Given the description of an element on the screen output the (x, y) to click on. 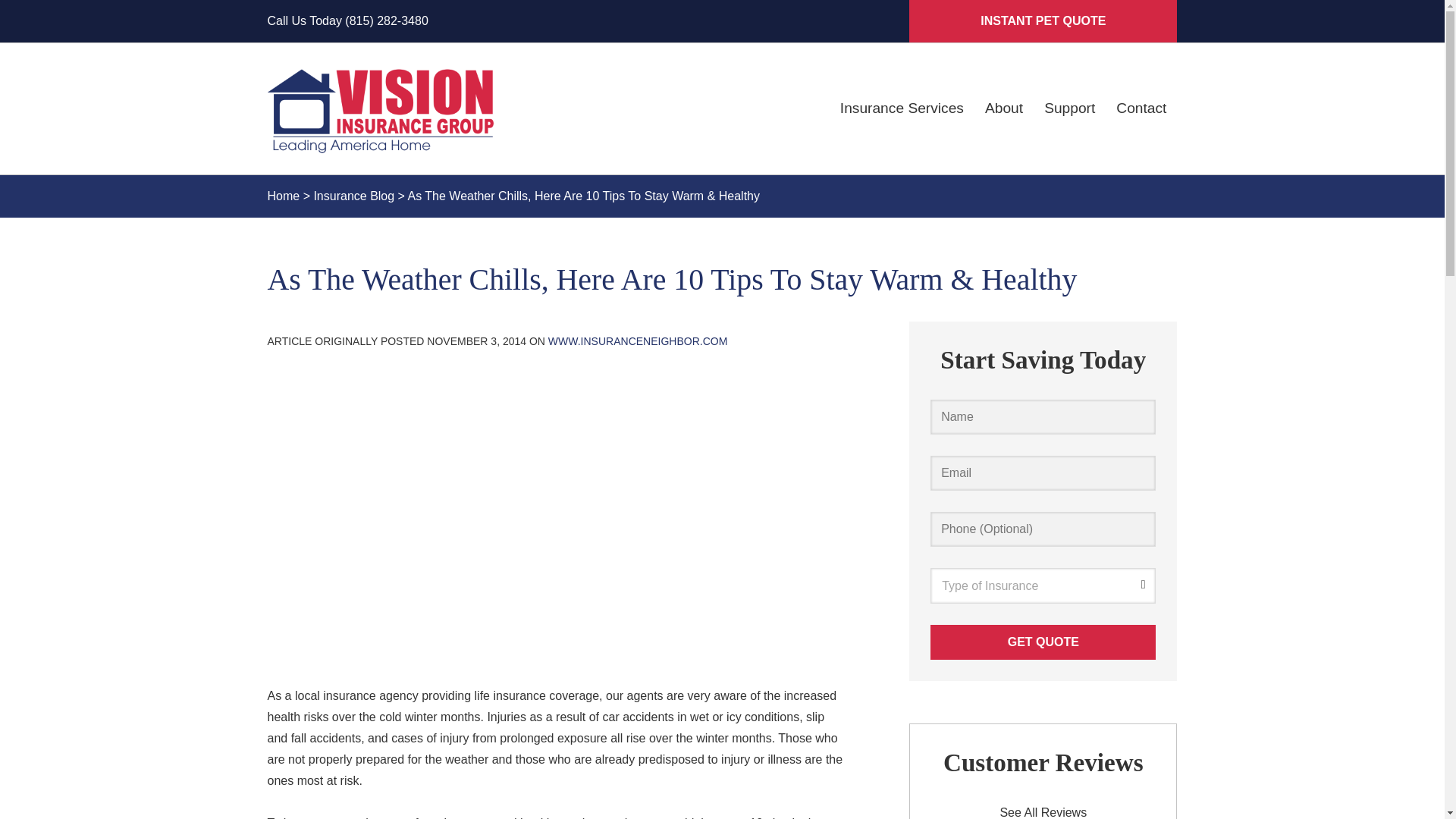
INSTANT PET QUOTE (1042, 21)
Insurance Services (901, 108)
Vision Insurance Group (380, 108)
Get Quote (1043, 642)
